Given the description of an element on the screen output the (x, y) to click on. 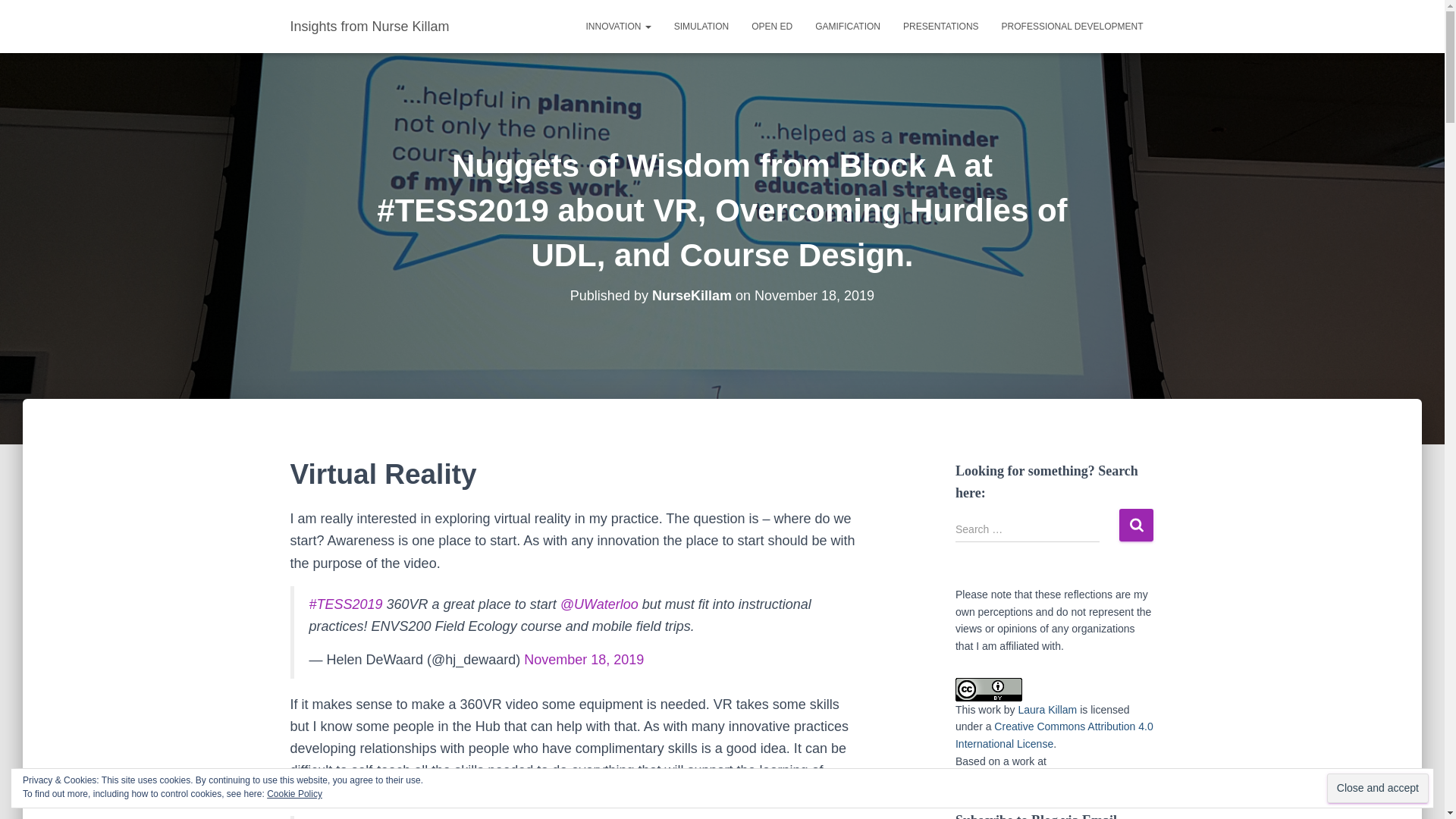
Simulation (700, 26)
Professional Development (1072, 26)
Insights from Nurse Killam (370, 26)
gamification (847, 26)
INNOVATION (618, 26)
Close and accept (1377, 788)
PRESENTATIONS (940, 26)
Innovation (618, 26)
OPEN ED (771, 26)
Insights from Nurse Killam (370, 26)
NurseKillam (692, 295)
Open Ed (771, 26)
SIMULATION (700, 26)
Presentations (940, 26)
GAMIFICATION (847, 26)
